Given the description of an element on the screen output the (x, y) to click on. 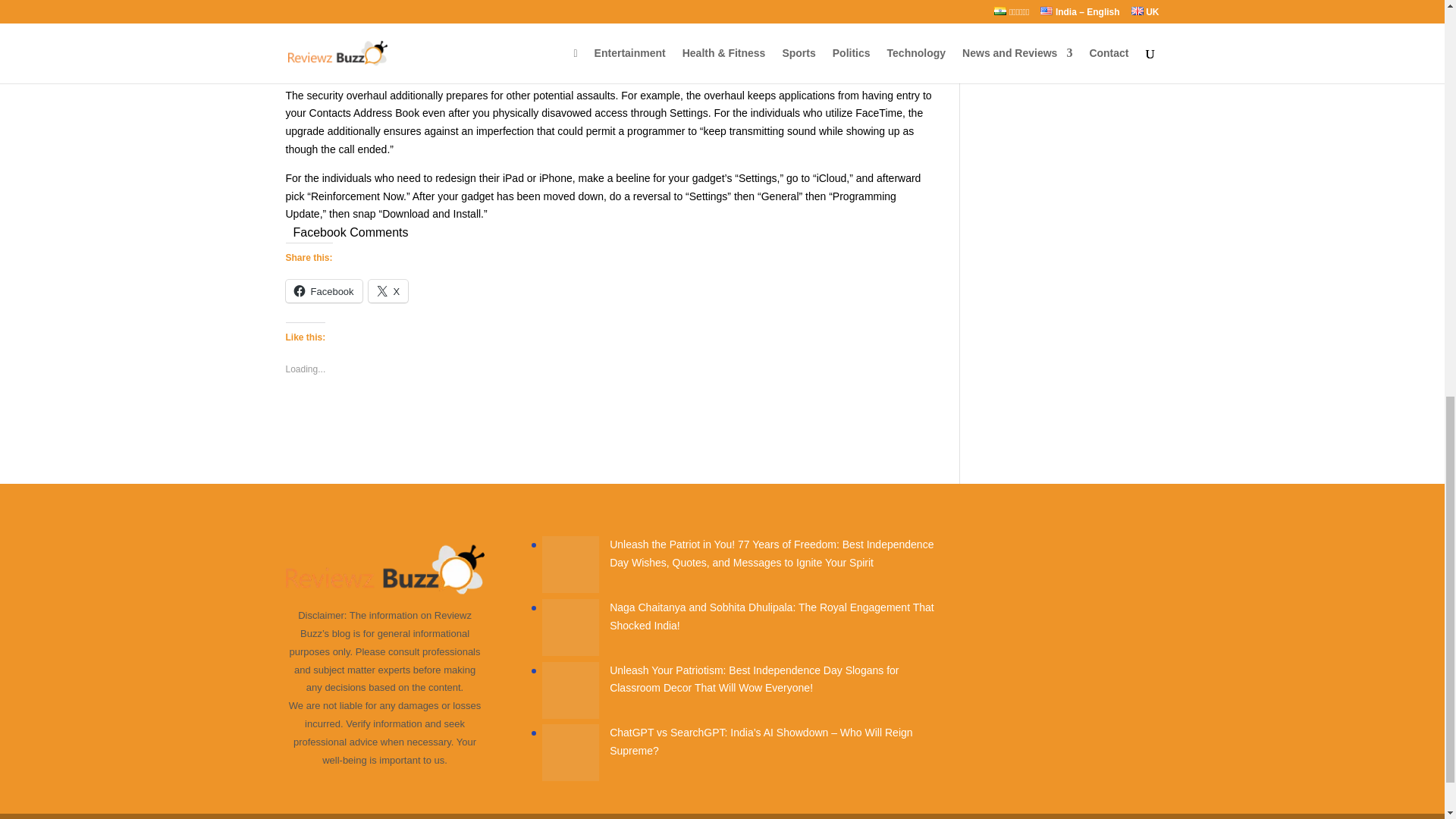
X (388, 291)
Click to share on Facebook (323, 291)
Travel (996, 33)
Facebook (323, 291)
Click to share on X (388, 291)
Technology News (1023, 9)
